Given the description of an element on the screen output the (x, y) to click on. 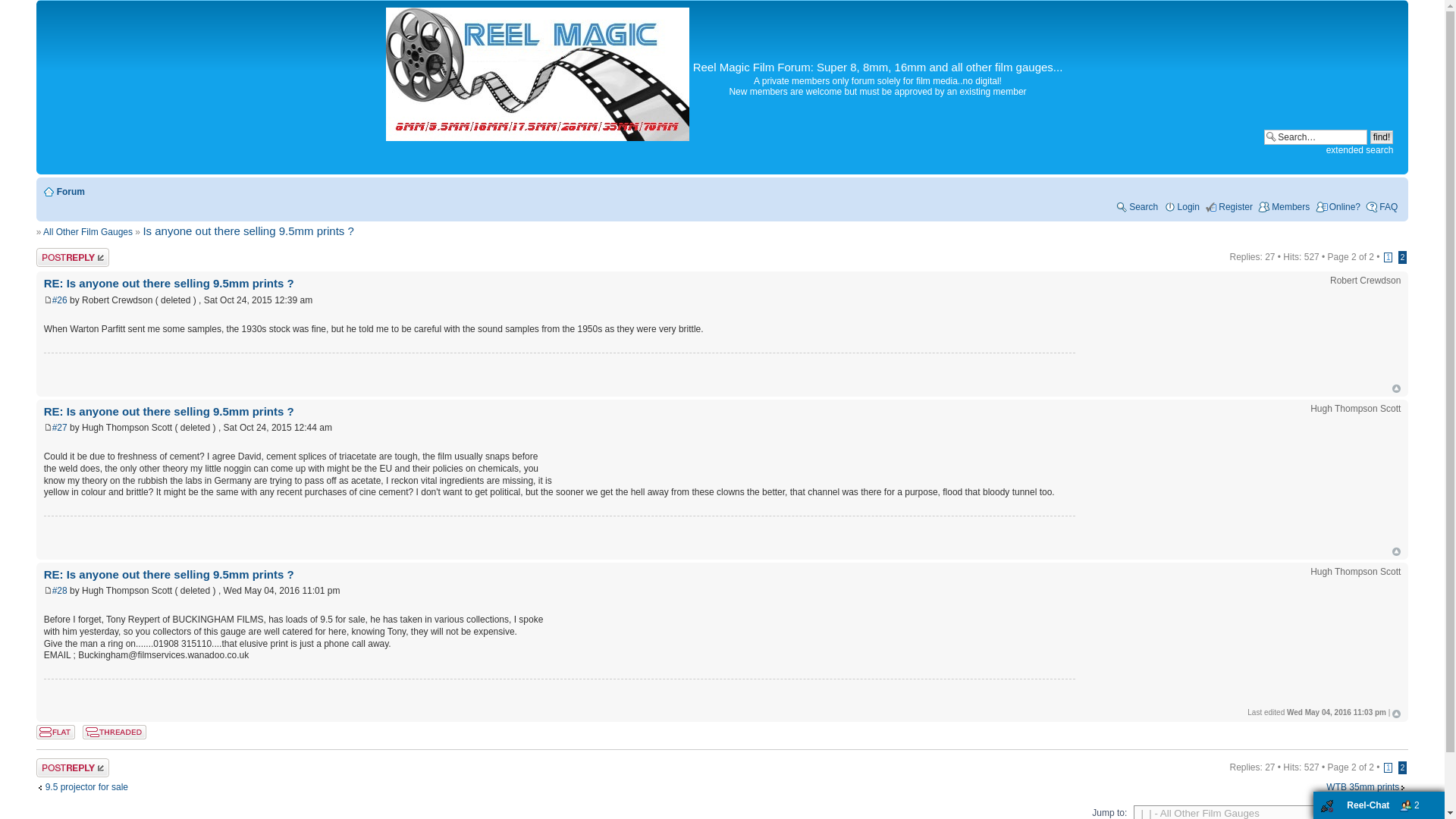
reply (82, 767)
9.5 projector for sale (82, 787)
Top (1395, 388)
reply (82, 257)
Jump (1393, 812)
Is anyone out there selling 9.5mm prints ? (247, 230)
Members (1282, 206)
find! (1381, 137)
Search (1136, 206)
RE: Is anyone out there selling 9.5mm prints ? (168, 282)
find! (1381, 137)
Login (1181, 206)
RE: Is anyone out there selling 9.5mm prints ? (168, 574)
1 (1388, 257)
FAQ (1381, 206)
